Given the description of an element on the screen output the (x, y) to click on. 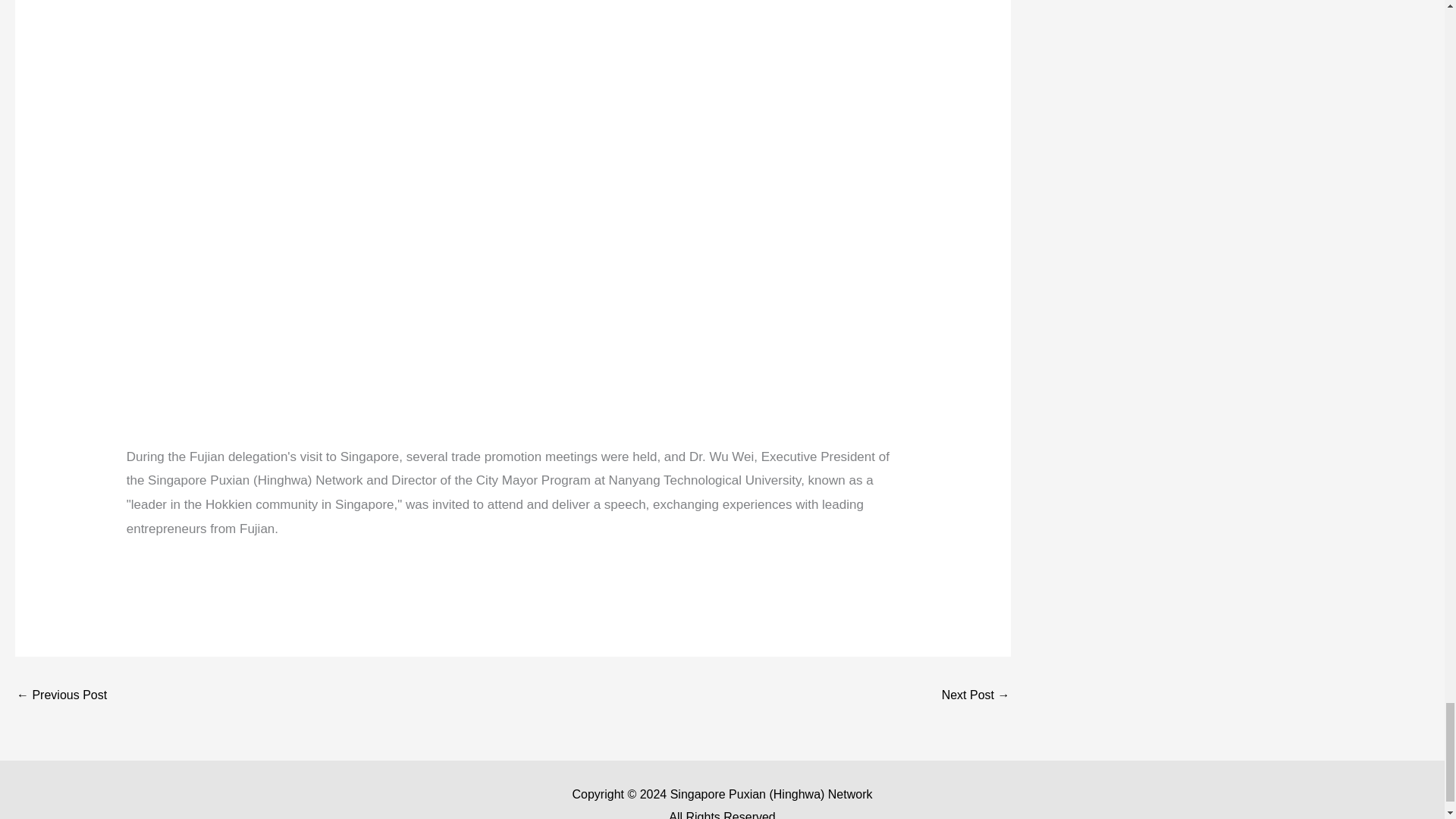
High-quality development business negotiation meeting (61, 696)
